Given the description of an element on the screen output the (x, y) to click on. 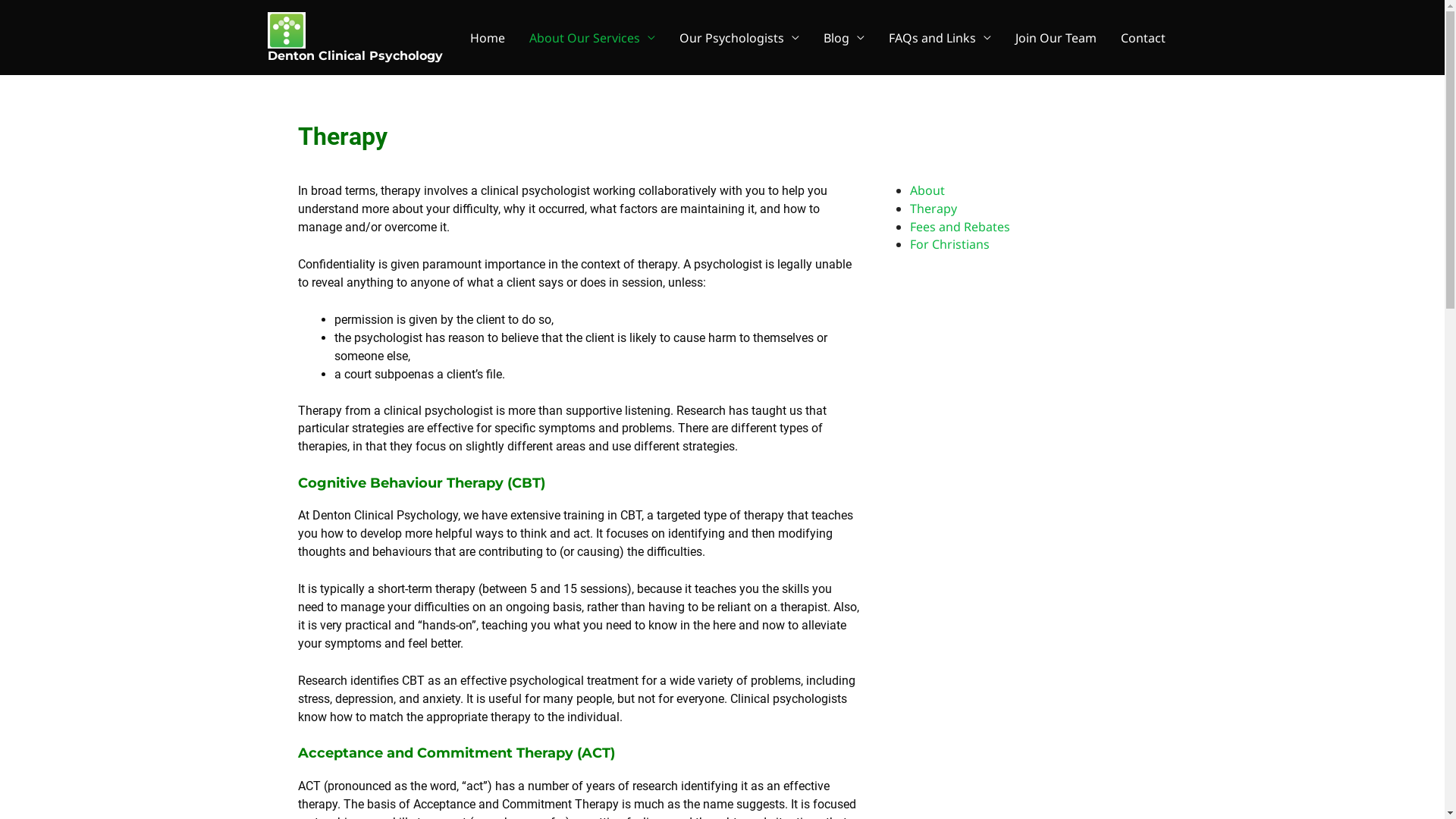
For Christians Element type: text (949, 243)
FAQs and Links Element type: text (939, 37)
Therapy Element type: text (933, 208)
Denton Clinical Psychology Element type: text (354, 55)
About Our Services Element type: text (592, 37)
Fees and Rebates Element type: text (960, 226)
Join Our Team Element type: text (1054, 37)
Our Psychologists Element type: text (739, 37)
Contact Element type: text (1142, 37)
About Element type: text (927, 190)
Home Element type: text (487, 37)
Blog Element type: text (843, 37)
